Given the description of an element on the screen output the (x, y) to click on. 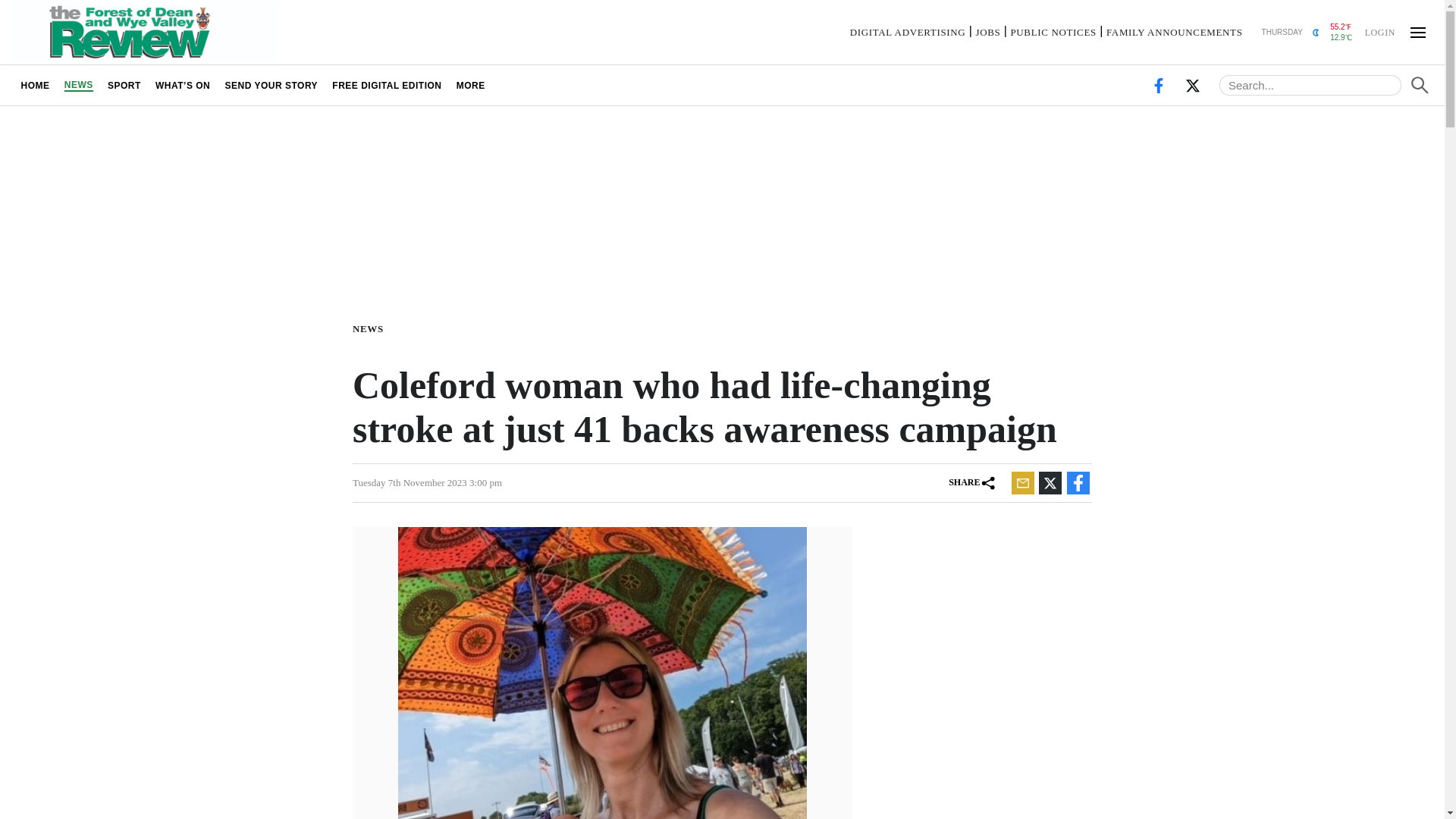
SEND YOUR STORY (270, 85)
SPORT (124, 85)
HOME (34, 85)
NEWS (78, 85)
MORE (470, 85)
FREE DIGITAL EDITION (386, 85)
FAMILY ANNOUNCEMENTS (1174, 32)
NEWS (371, 328)
LOGIN (1379, 31)
